Given the description of an element on the screen output the (x, y) to click on. 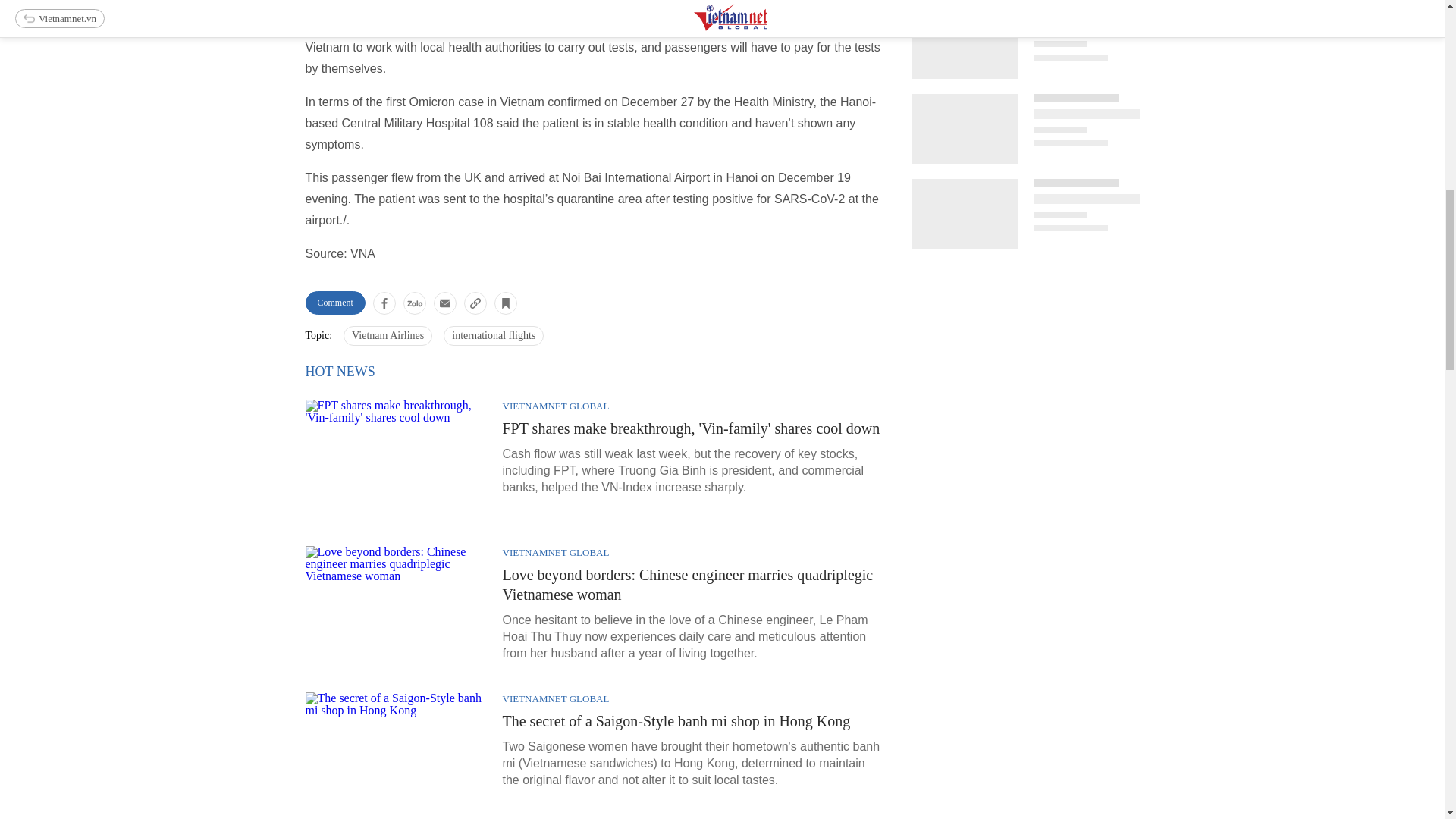
Share the post on zalo (414, 302)
Share the post on facebook (384, 302)
Comment (334, 302)
